Given the description of an element on the screen output the (x, y) to click on. 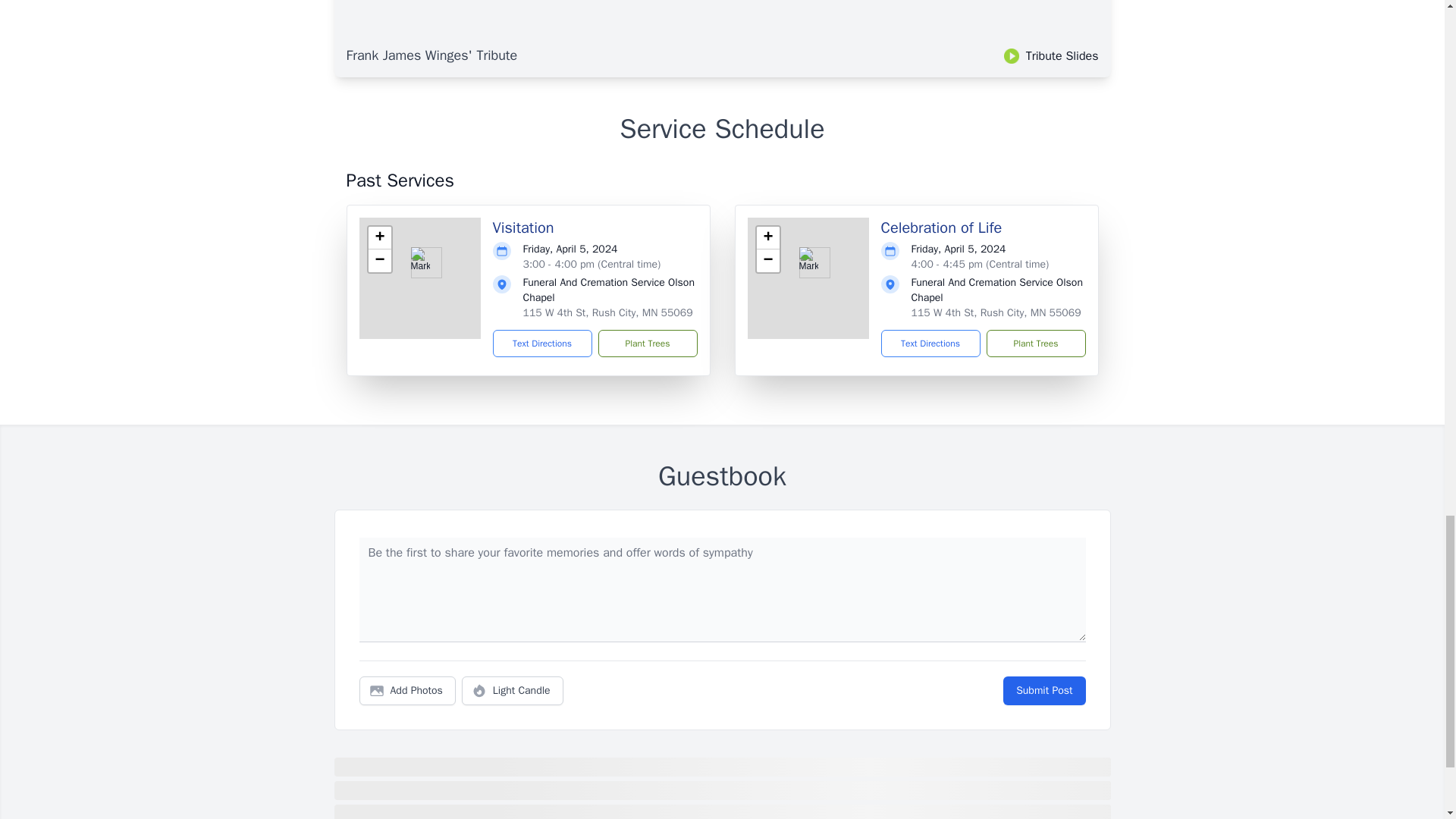
Zoom in (379, 237)
Submit Post (1043, 690)
Add Photos (407, 690)
Plant Trees (646, 343)
115 W 4th St, Rush City, MN 55069 (996, 312)
Zoom out (767, 260)
Text Directions (929, 343)
Plant Trees (1034, 343)
Zoom in (767, 237)
115 W 4th St, Rush City, MN 55069 (607, 312)
Zoom out (379, 260)
Text Directions (542, 343)
Light Candle (512, 690)
